Given the description of an element on the screen output the (x, y) to click on. 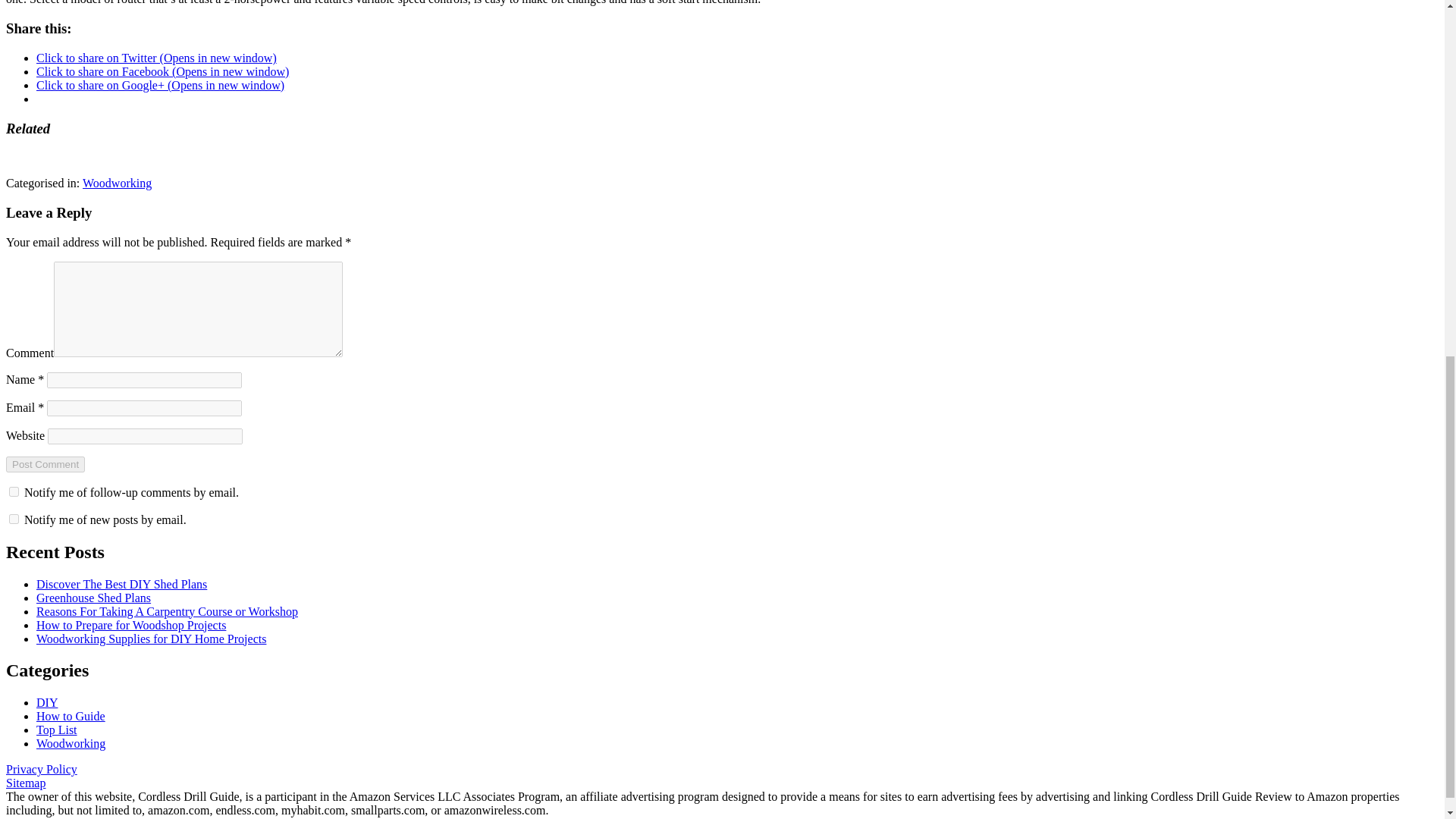
Post Comment (44, 464)
subscribe (13, 491)
DIY (47, 702)
Click to share on Facebook (162, 71)
Post Comment (44, 464)
Sitemap (25, 782)
Woodworking (116, 182)
Top List (56, 729)
Discover The Best DIY Shed Plans (121, 584)
How to Prepare for Woodshop Projects (130, 625)
Greenhouse Shed Plans (93, 597)
subscribe (13, 519)
Privacy Policy (41, 768)
Reasons For Taking A Carpentry Course or Workshop (167, 611)
Woodworking (70, 743)
